Given the description of an element on the screen output the (x, y) to click on. 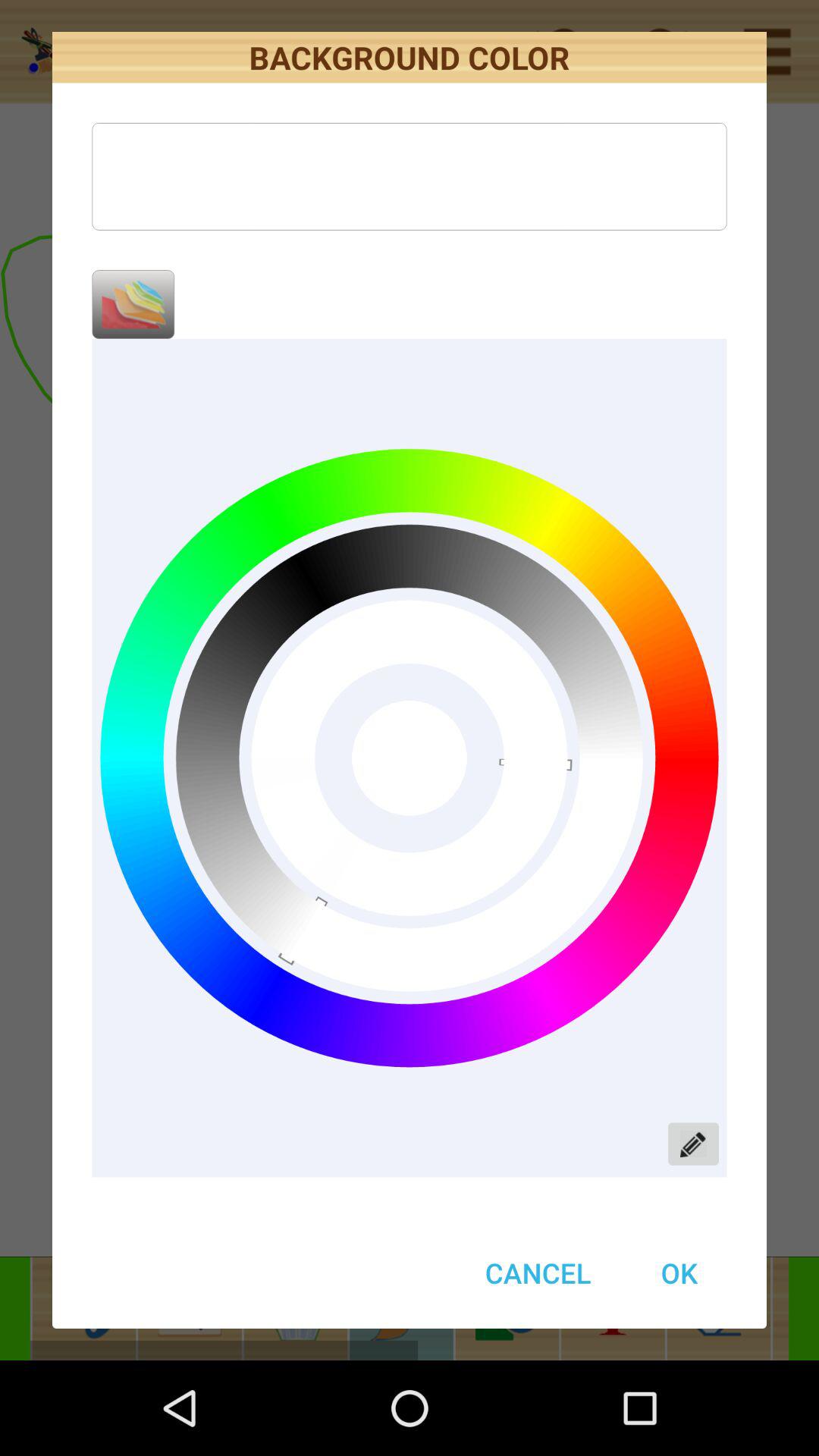
turn on the icon next to the ok (538, 1272)
